Given the description of an element on the screen output the (x, y) to click on. 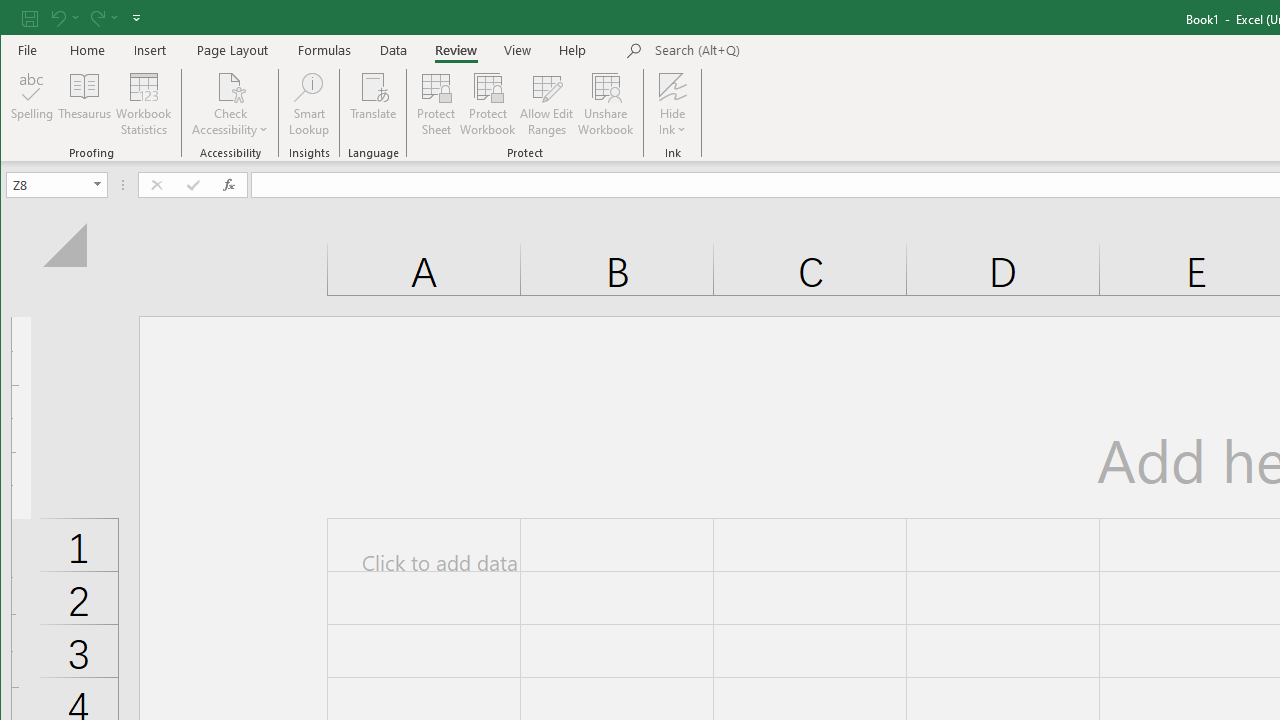
Unshare Workbook (606, 104)
Translate (373, 104)
Formulas (325, 50)
Spelling... (32, 104)
Data (394, 50)
Protect Workbook... (488, 104)
Smart Lookup (308, 104)
Customize Quick Access Toolbar (136, 17)
